Given the description of an element on the screen output the (x, y) to click on. 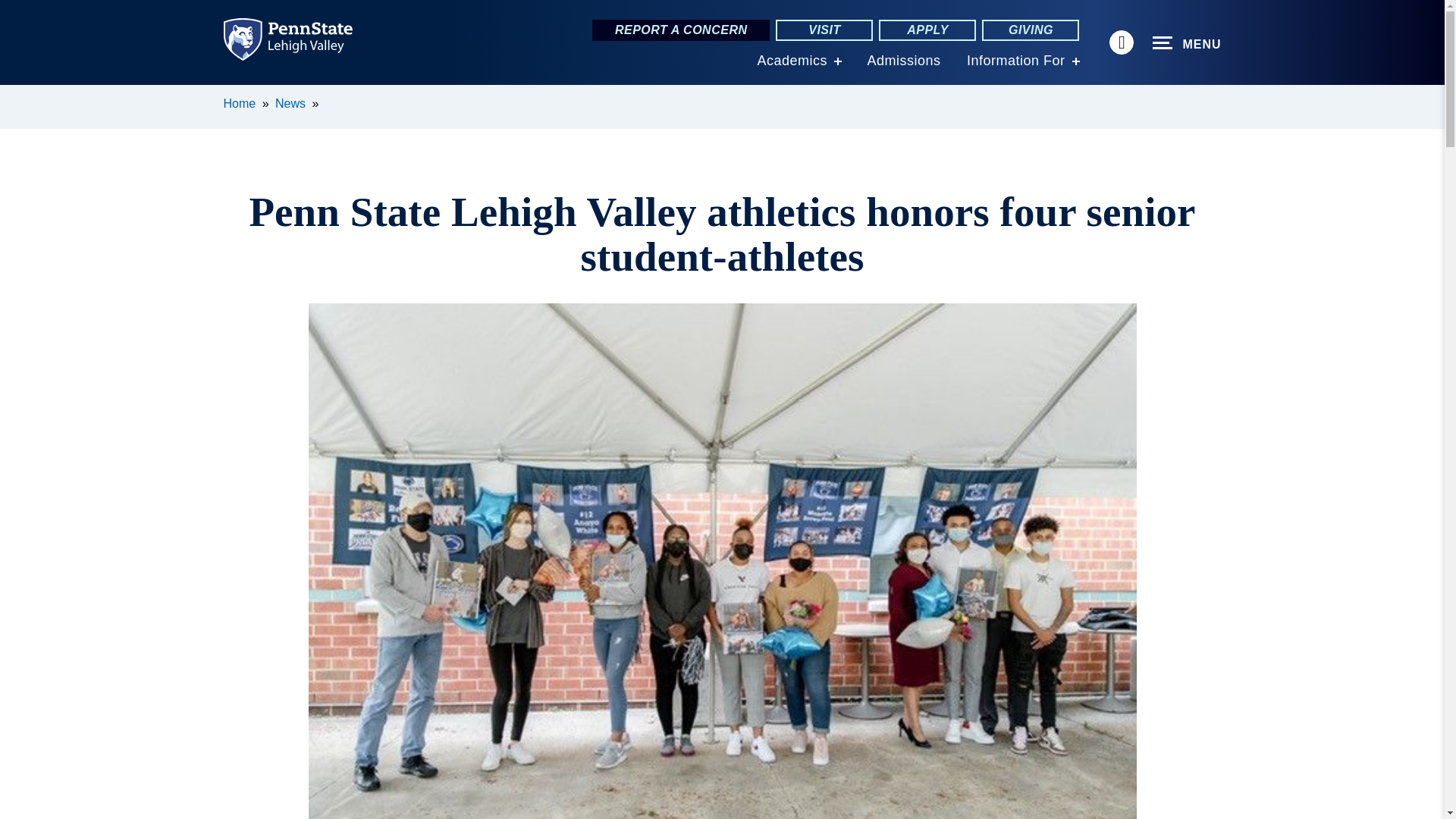
MENU (1187, 43)
APPLY (927, 29)
Academics (792, 60)
VISIT (824, 29)
Information For (1015, 60)
Admissions (903, 60)
GIVING (1029, 29)
SKIP TO MAIN CONTENT (19, 95)
REPORT A CONCERN (681, 29)
